Given the description of an element on the screen output the (x, y) to click on. 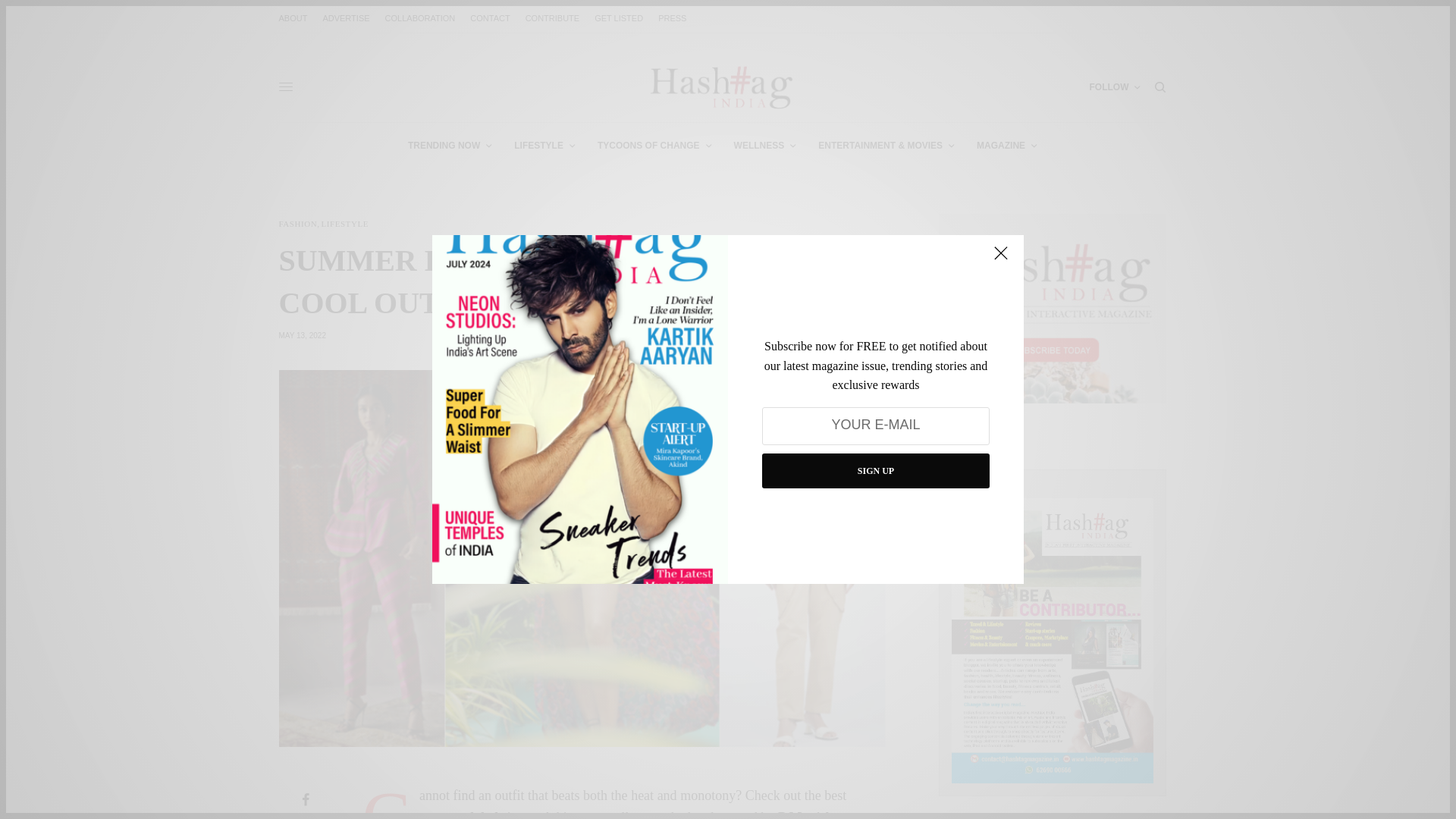
LIFESTYLE (544, 145)
Hashtag Magazine (722, 86)
COLLABORATION (420, 18)
CONTACT (489, 18)
GET LISTED (618, 18)
PRESS (671, 18)
TRENDING NOW (449, 145)
CONTRIBUTE (552, 18)
SIGN UP (875, 470)
ABOUT (293, 18)
ADVERTISE (345, 18)
FOLLOW (1114, 86)
